Given the description of an element on the screen output the (x, y) to click on. 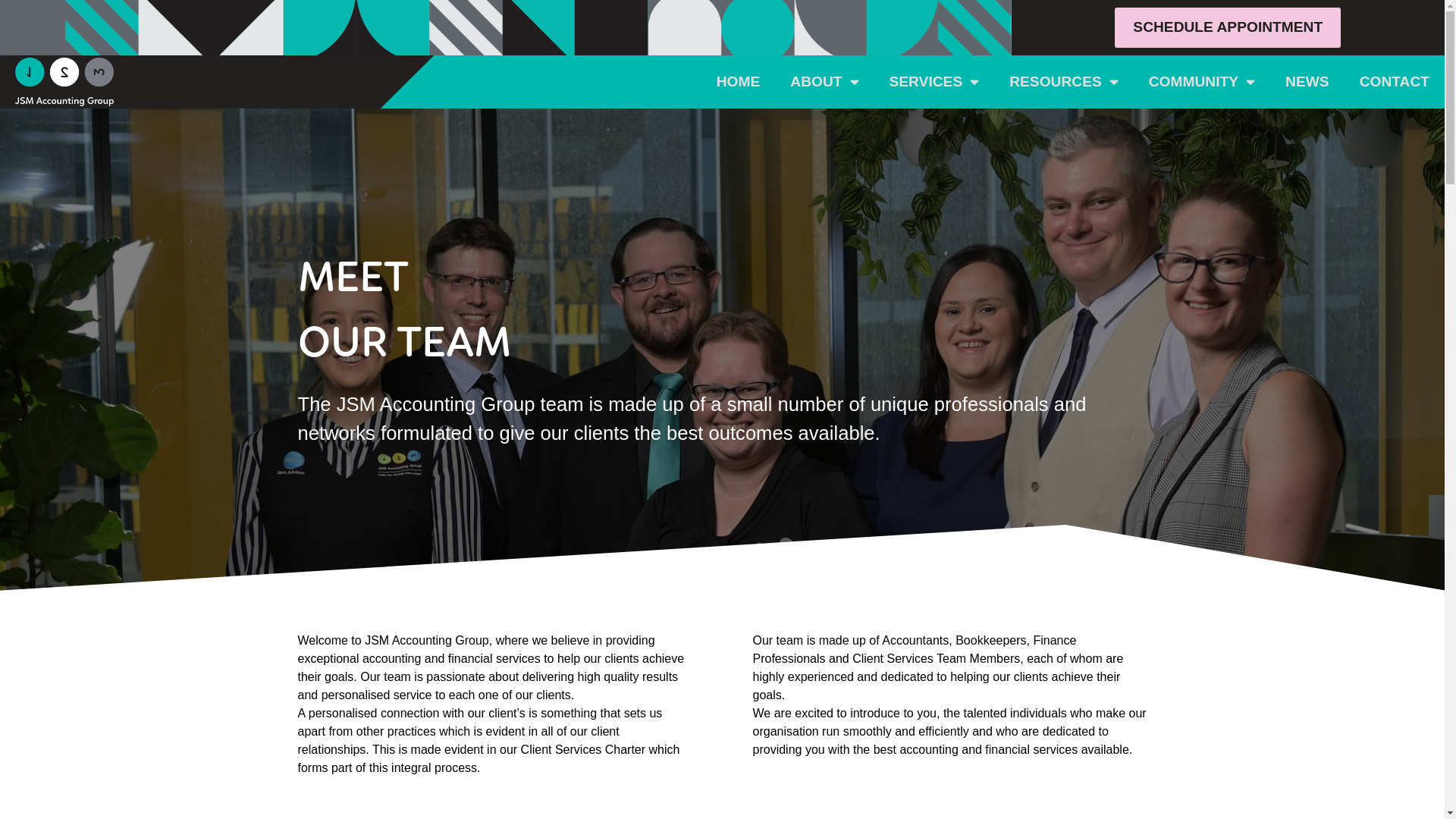
ABOUT Element type: text (824, 81)
SCHEDULE APPOINTMENT Element type: text (1227, 27)
RESOURCES Element type: text (1063, 81)
NEWS Element type: text (1307, 81)
HOME Element type: text (738, 81)
COMMUNITY Element type: text (1201, 81)
CONTACT Element type: text (1394, 81)
SERVICES Element type: text (934, 81)
